Given the description of an element on the screen output the (x, y) to click on. 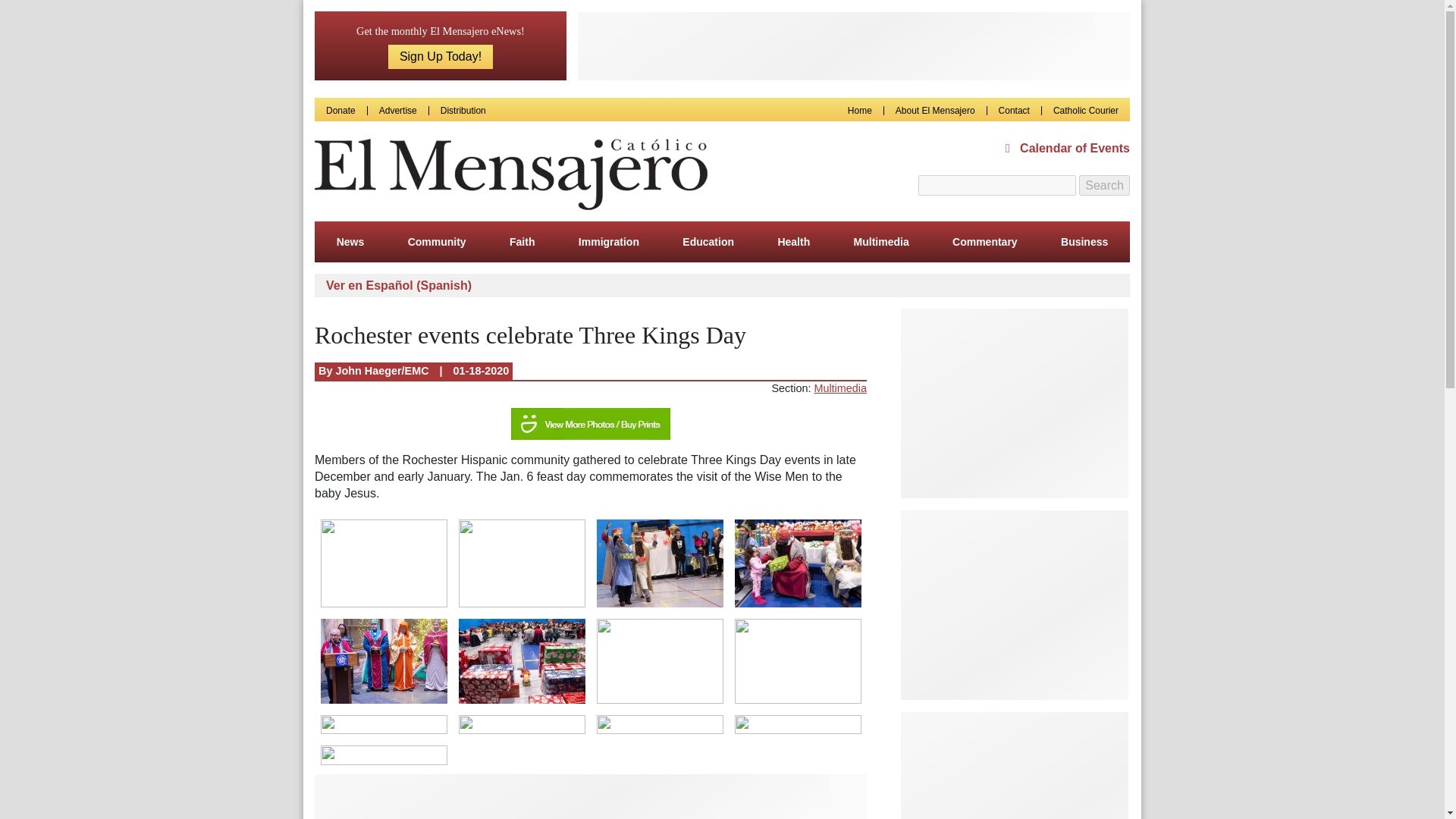
Multimedia (881, 241)
News (349, 241)
Sign Up Today! (440, 56)
Donate (340, 110)
Distribution (463, 110)
Spanish (398, 285)
  Calendar of Events (1067, 148)
Commentary (984, 241)
Contact (1013, 110)
Search (1103, 185)
Catholic Courier (1085, 110)
Search (1103, 185)
